Given the description of an element on the screen output the (x, y) to click on. 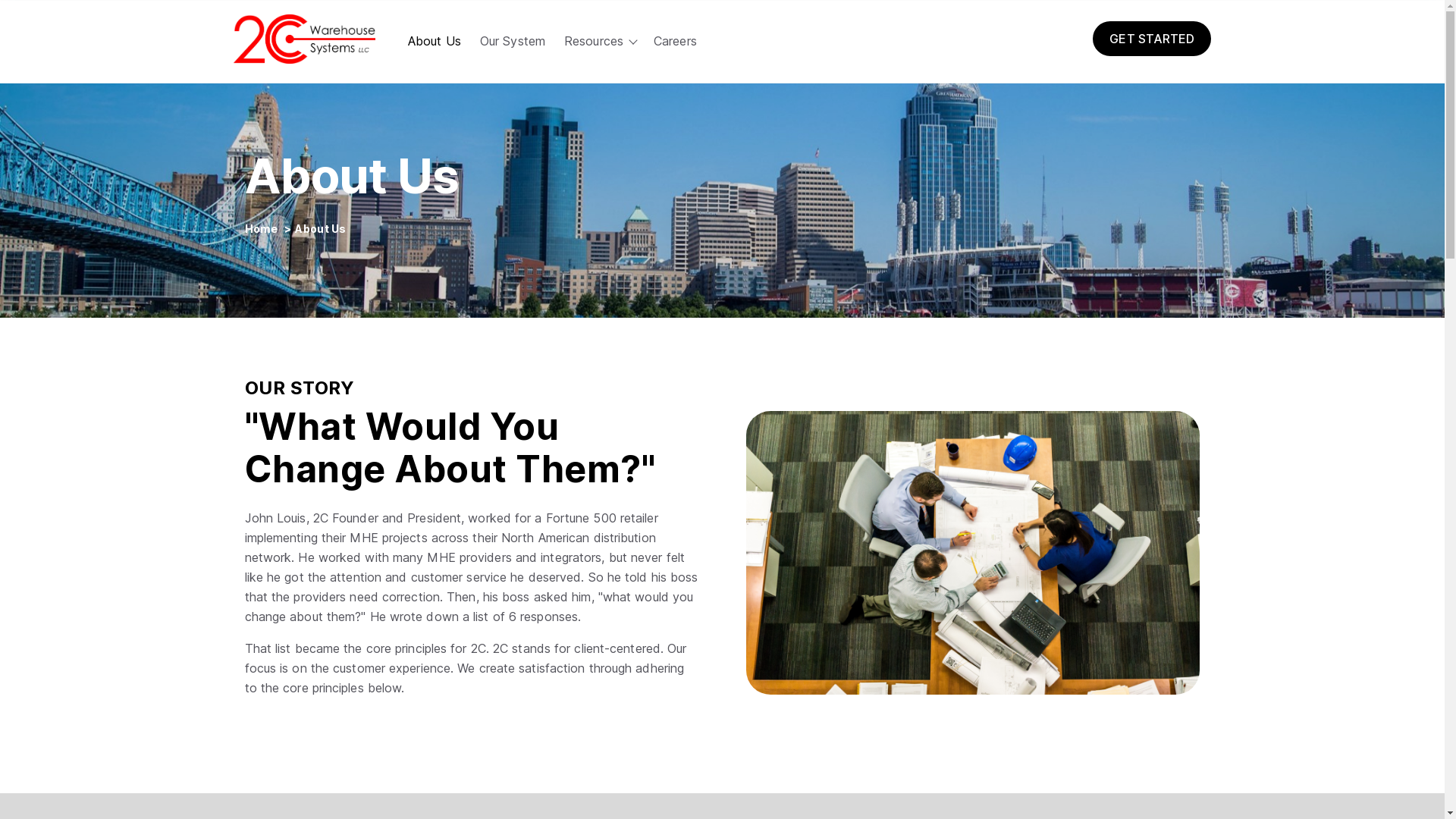
GET STARTED Element type: text (1151, 38)
About Us Element type: text (434, 40)
Our System Element type: text (512, 40)
Careers Element type: text (674, 40)
Resources Element type: text (593, 40)
Home Element type: text (262, 228)
